Given the description of an element on the screen output the (x, y) to click on. 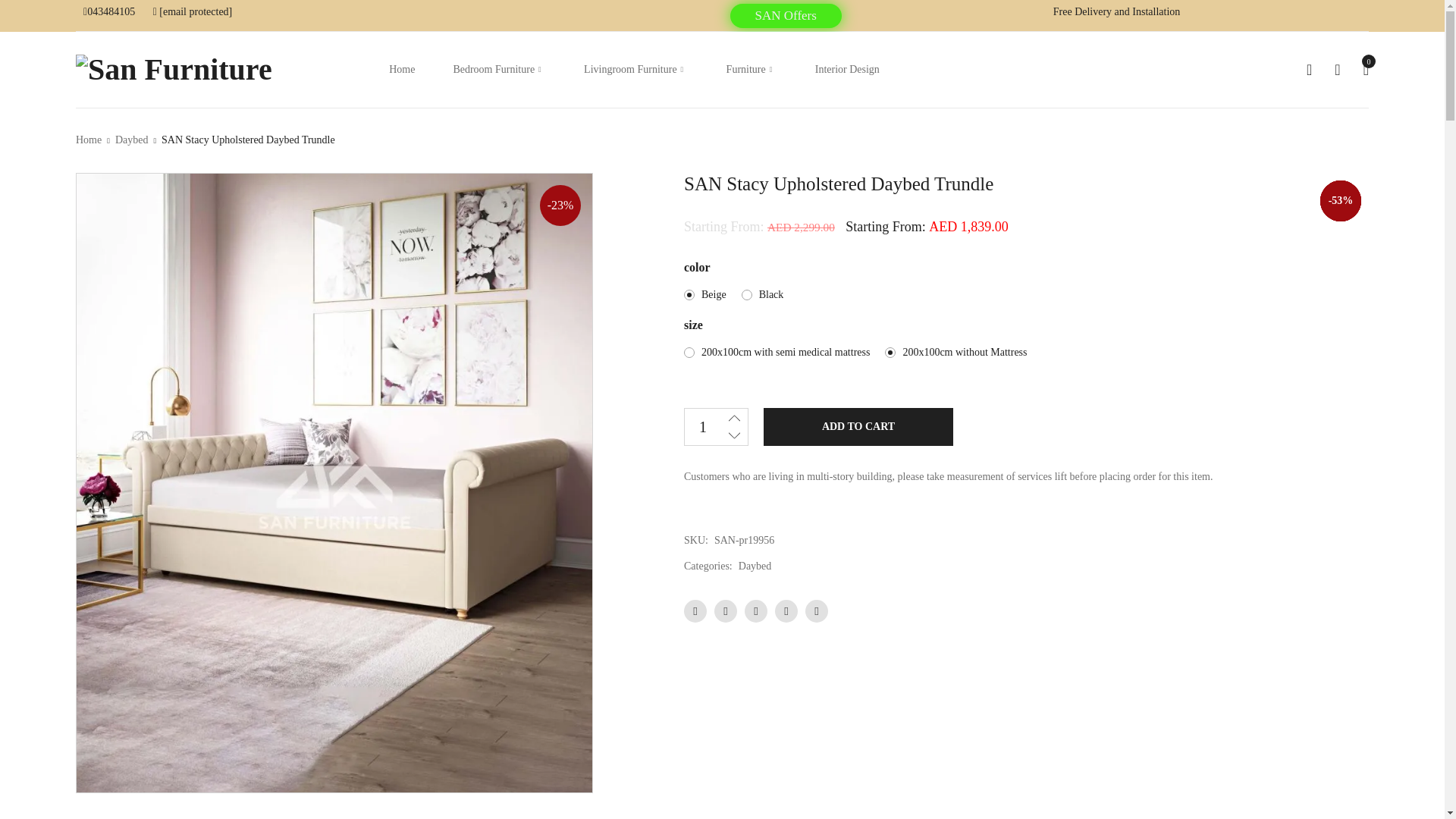
San Furniture (173, 69)
- (734, 435)
1 (702, 426)
